Given the description of an element on the screen output the (x, y) to click on. 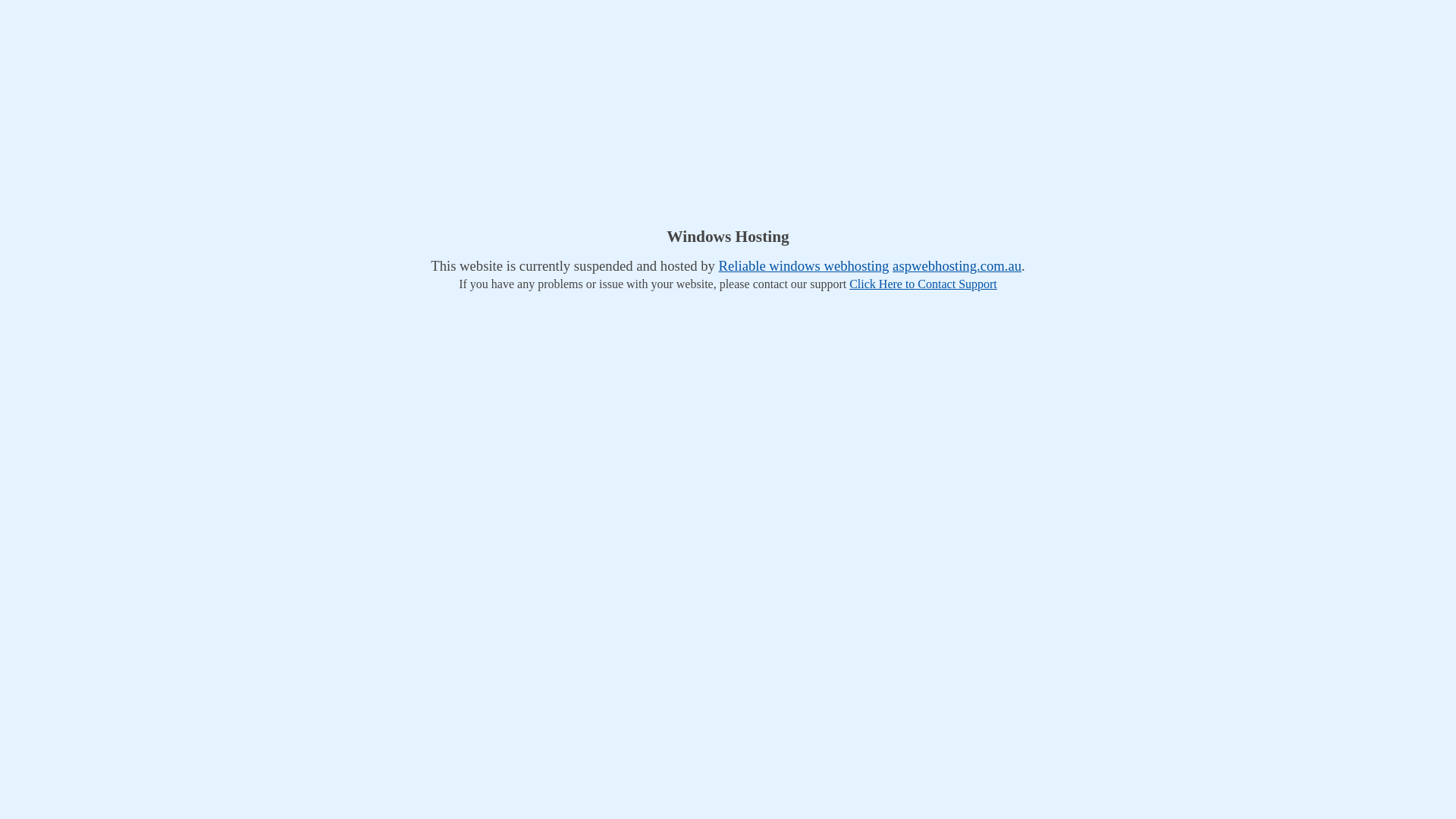
Reliable windows webhosting Element type: text (803, 265)
Click Here to Contact Support Element type: text (923, 283)
aspwebhosting.com.au Element type: text (956, 265)
